Given the description of an element on the screen output the (x, y) to click on. 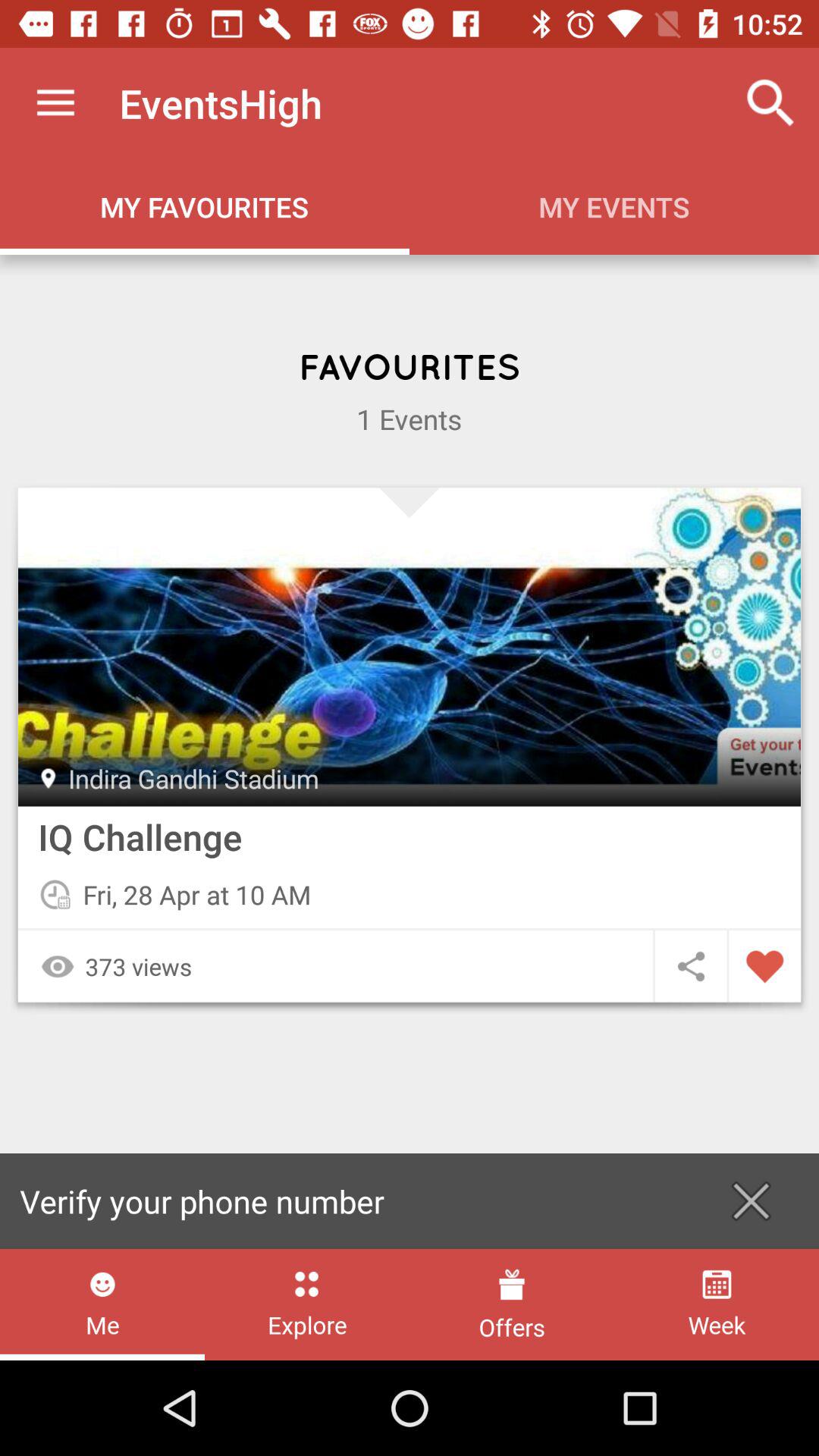
open the item to the right of the offers icon (716, 1304)
